Given the description of an element on the screen output the (x, y) to click on. 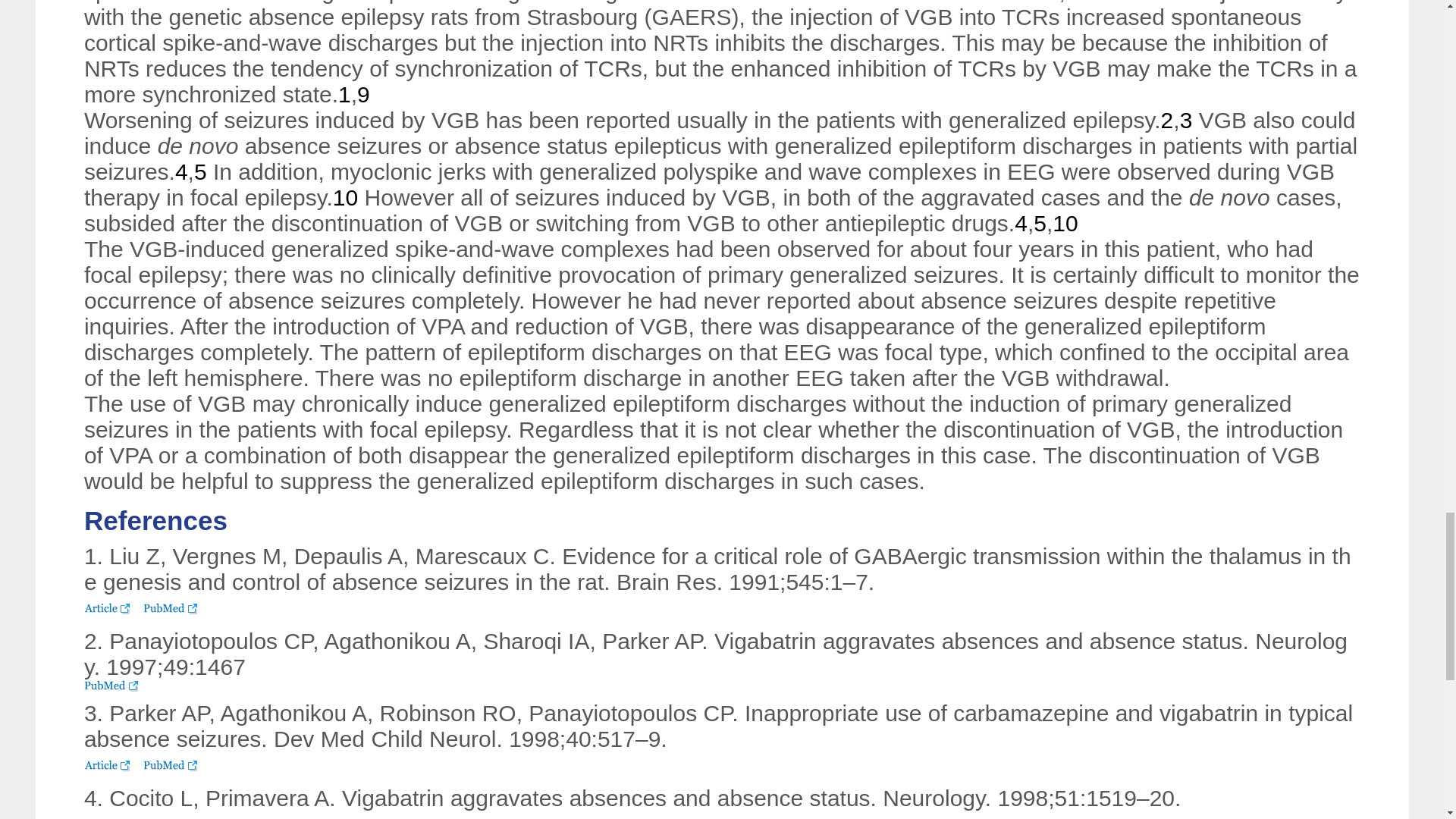
10 (345, 197)
8 (1071, 2)
7 (1052, 2)
10 (1064, 222)
